Given the description of an element on the screen output the (x, y) to click on. 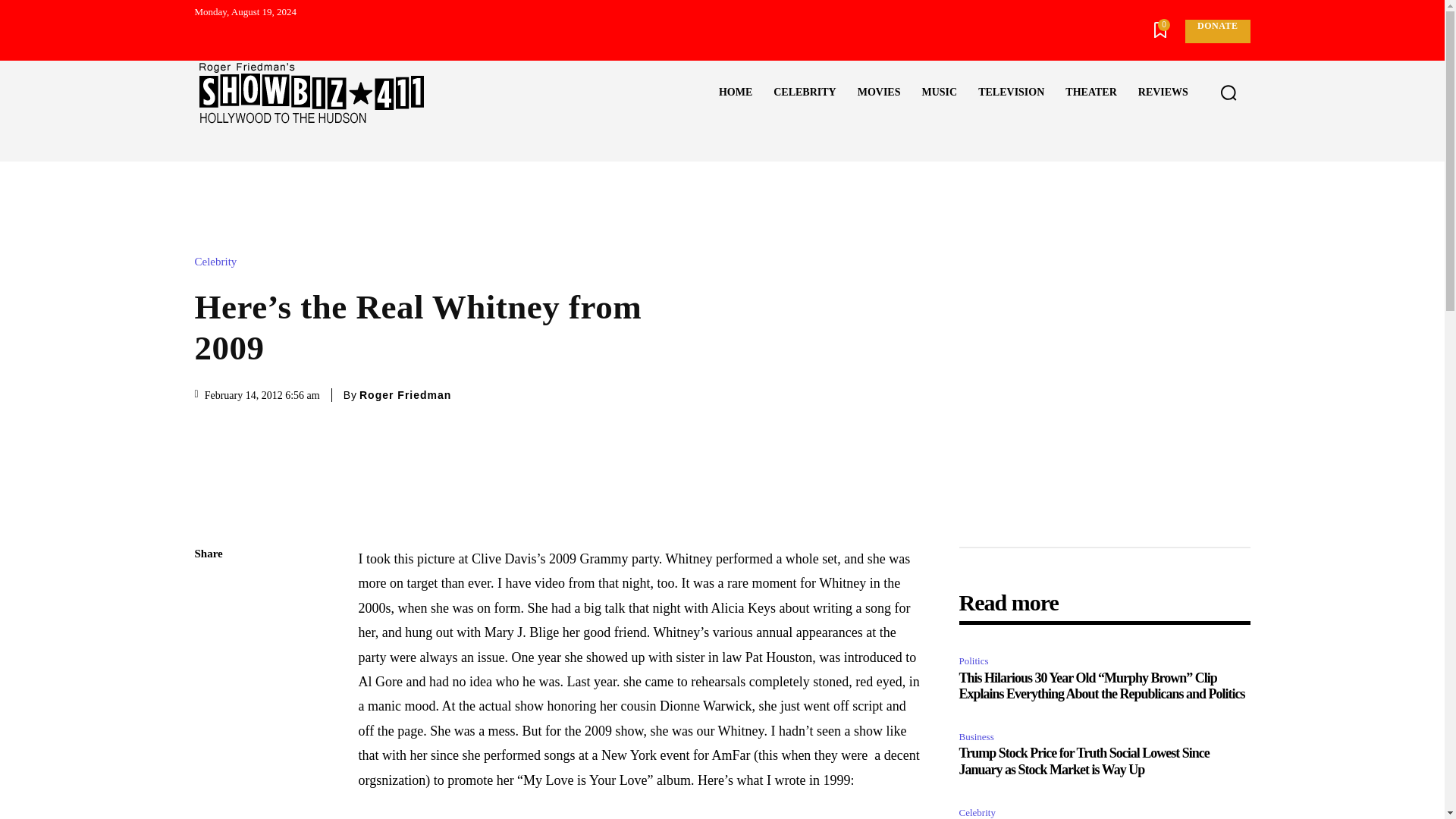
REVIEWS (1162, 92)
Celebrity (218, 261)
DONATE (1217, 31)
THEATER (1090, 92)
MUSIC (939, 92)
MOVIES (879, 92)
CELEBRITY (803, 92)
Donate (1217, 31)
TELEVISION (1011, 92)
HOME (734, 92)
